Given the description of an element on the screen output the (x, y) to click on. 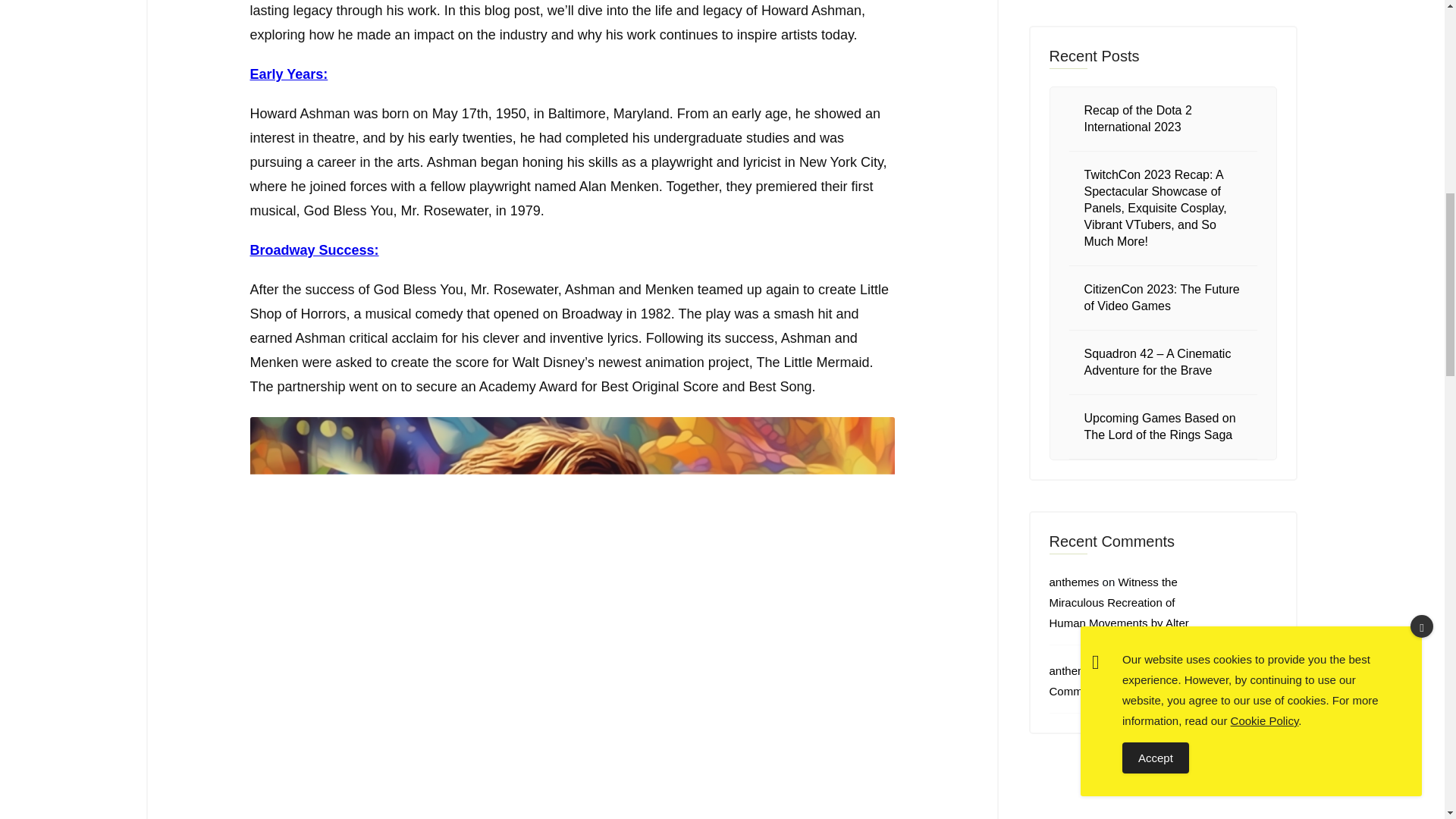
CitizenCon 2023: The Future of Video Games (1162, 297)
Recap of the Dota 2 International 2023 (1138, 118)
Upcoming Games Based on The Lord of the Rings Saga  (1160, 426)
anthemes (1074, 581)
anthemes (1074, 670)
